Given the description of an element on the screen output the (x, y) to click on. 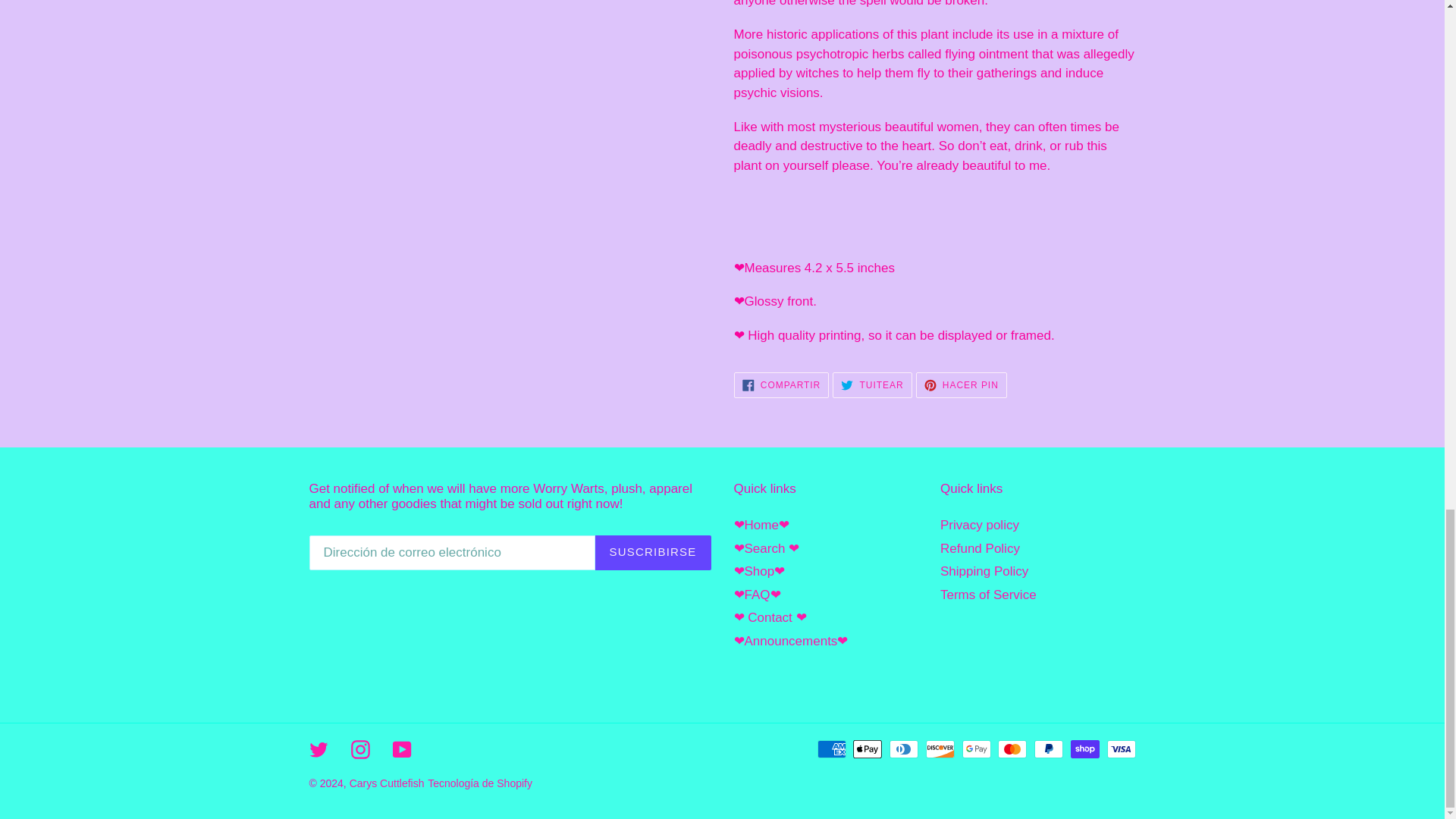
SUSCRIBIRSE (871, 385)
